Given the description of an element on the screen output the (x, y) to click on. 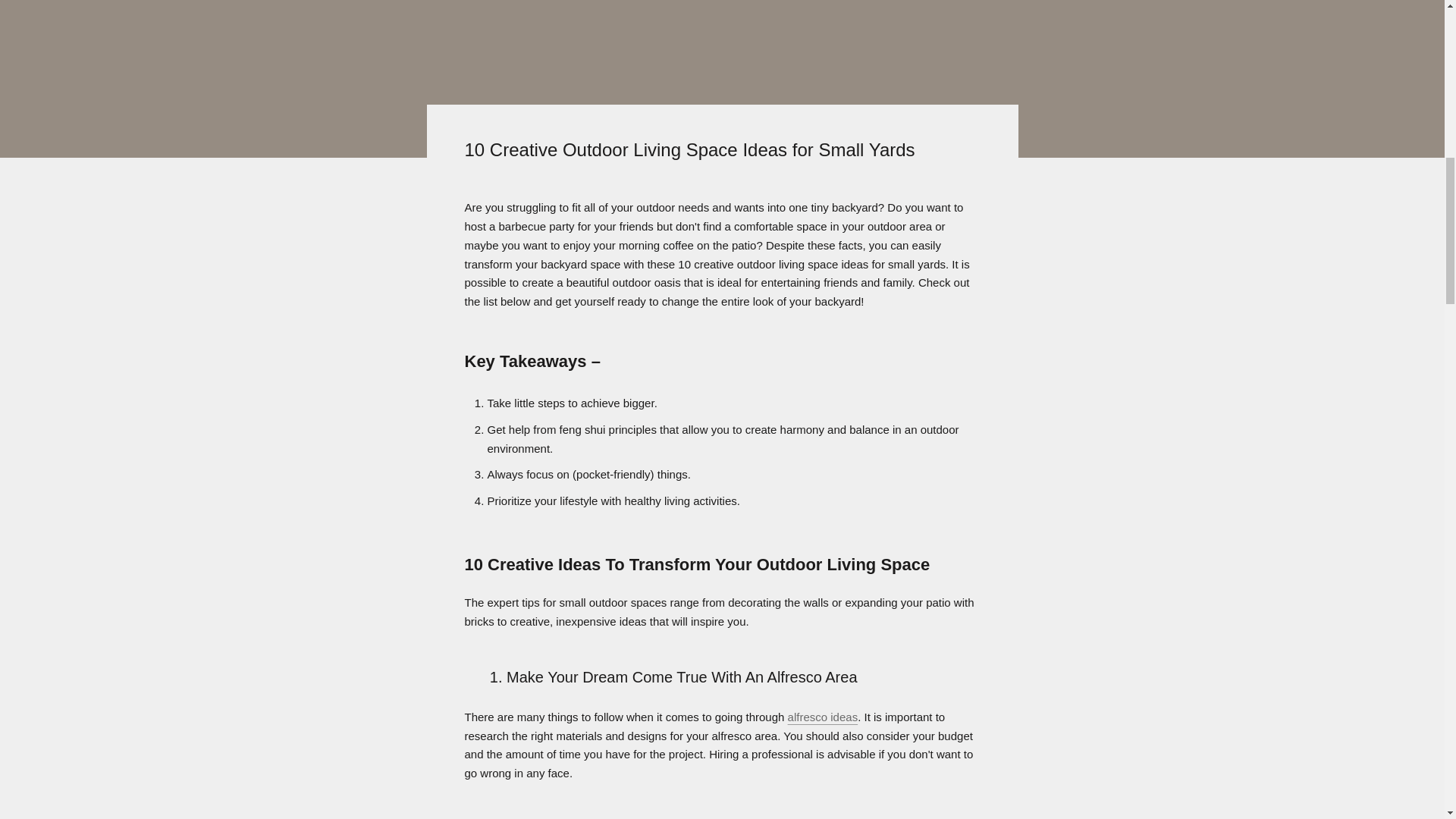
alfresco ideas (823, 716)
